Given the description of an element on the screen output the (x, y) to click on. 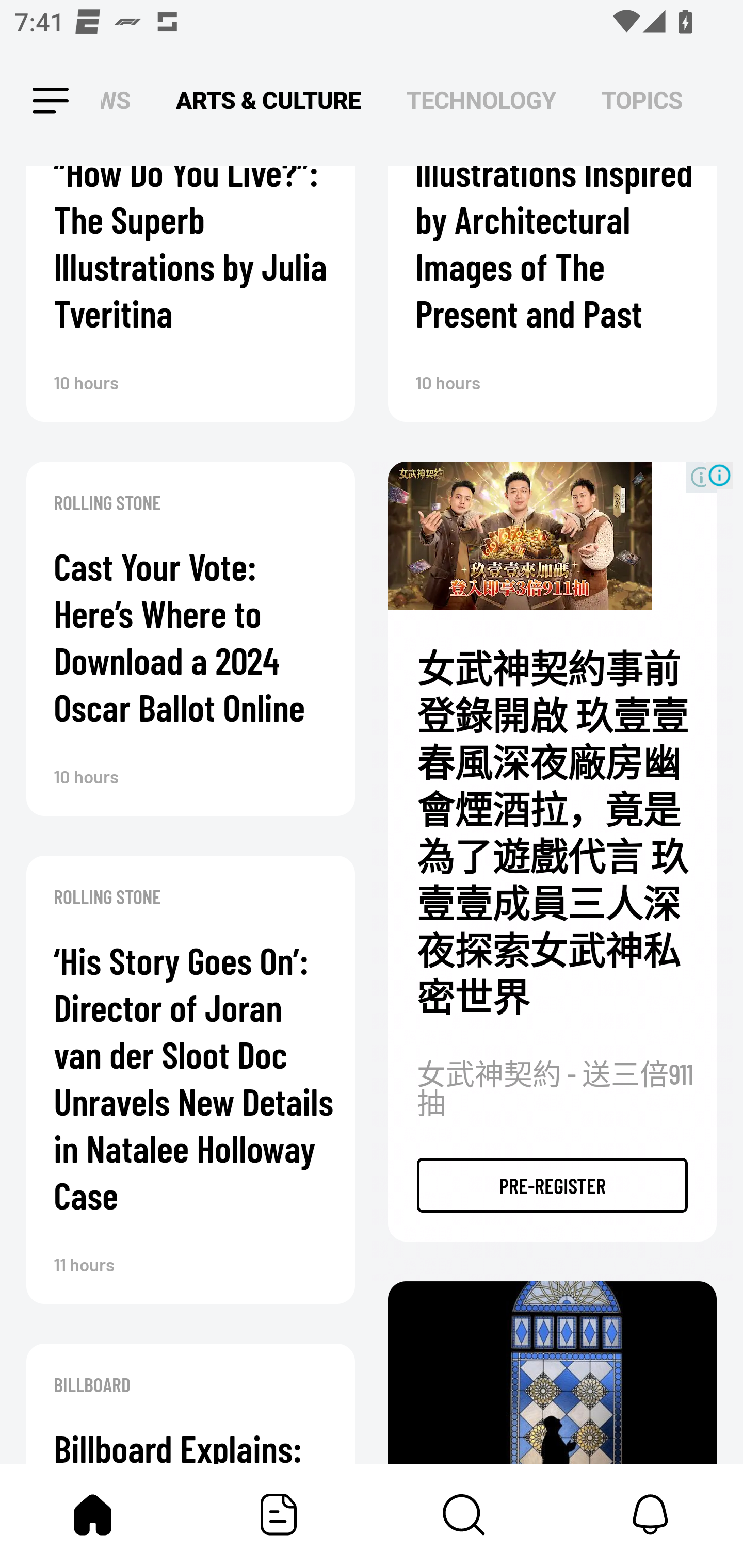
NEWS (121, 100)
TECHNOLOGY (481, 100)
TOPICS (641, 100)
Ad Choices Icon (719, 474)
Featured (278, 1514)
Content Store (464, 1514)
Notifications (650, 1514)
